Given the description of an element on the screen output the (x, y) to click on. 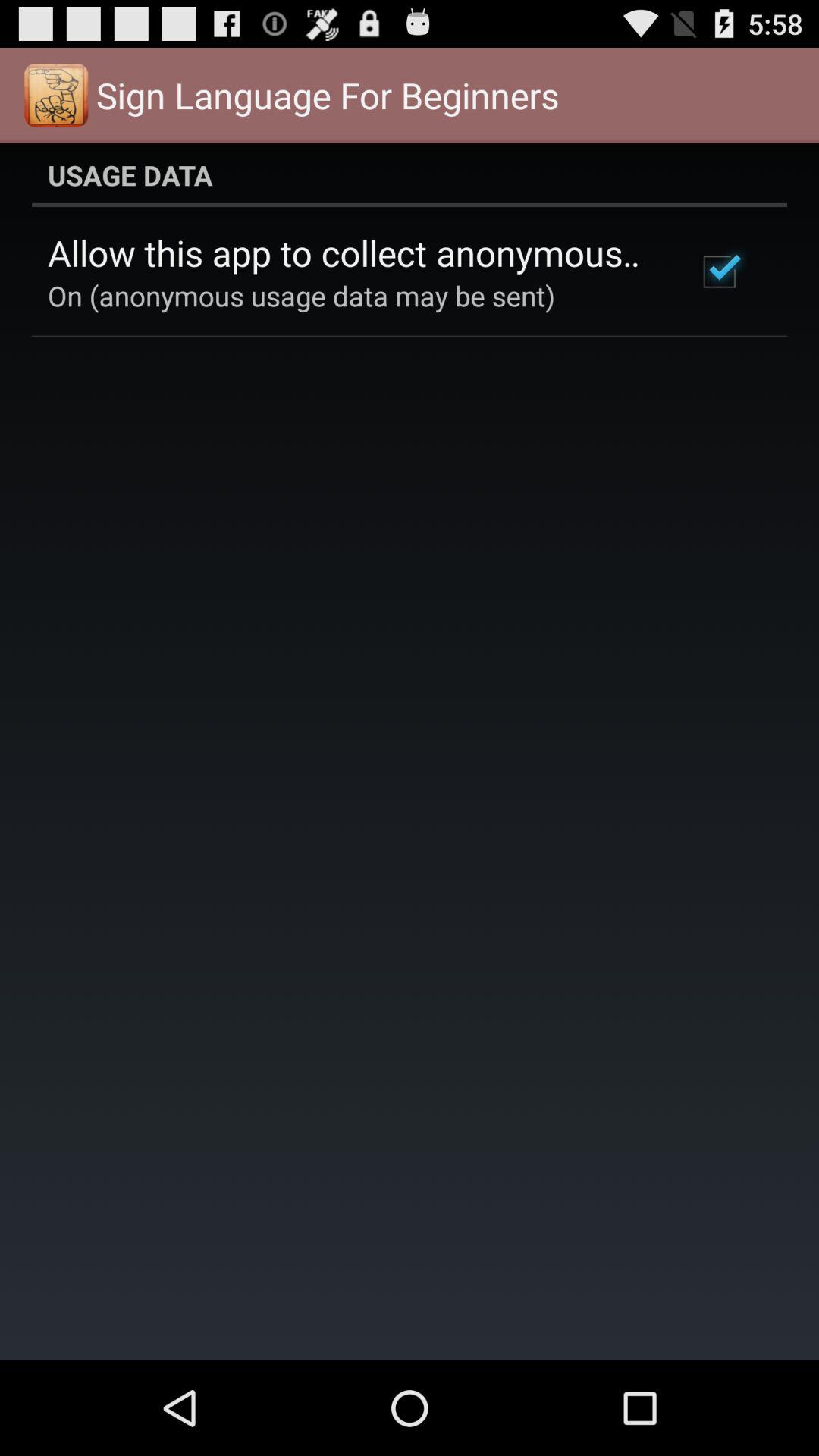
launch icon below the usage data icon (719, 271)
